Given the description of an element on the screen output the (x, y) to click on. 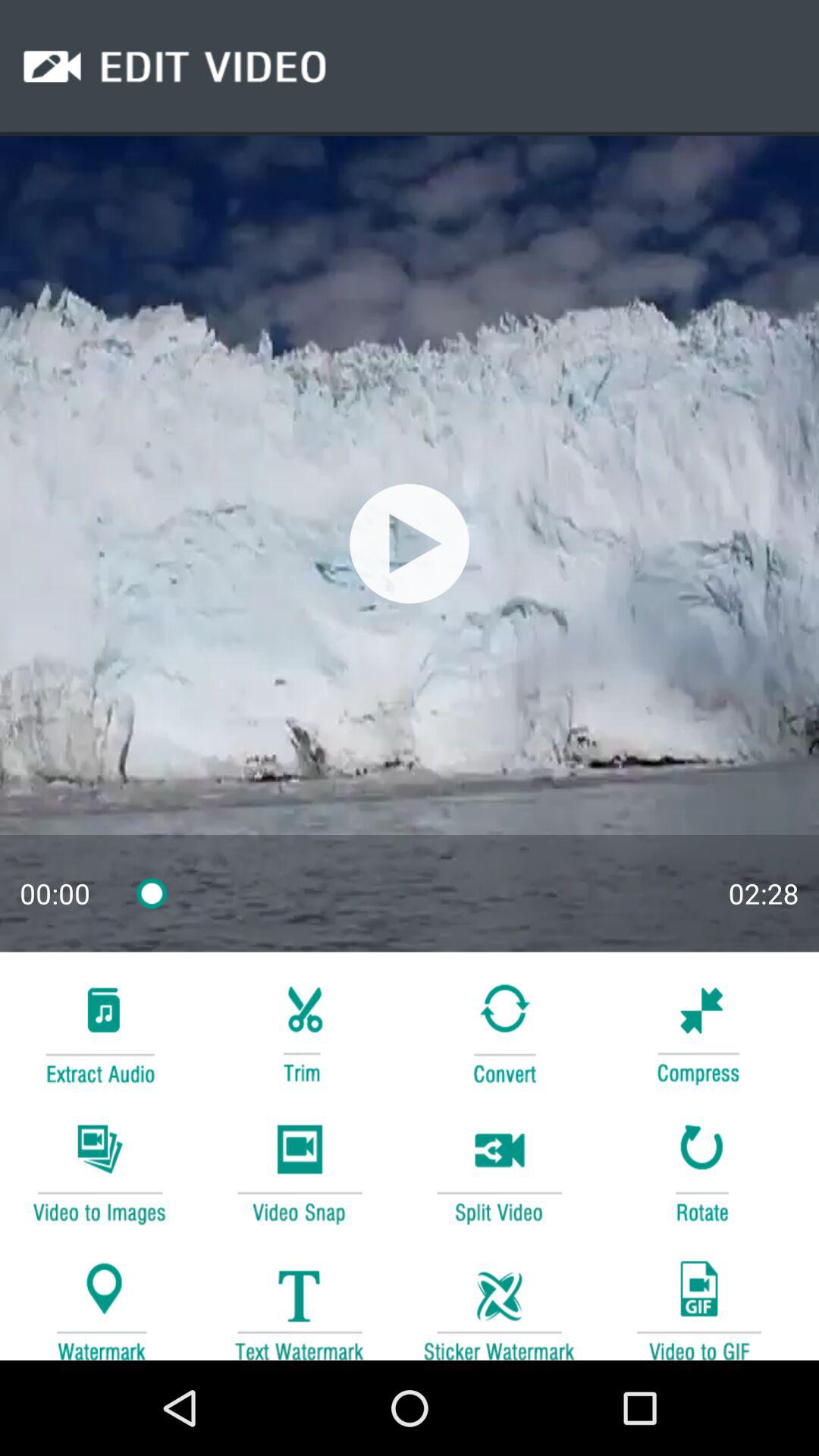
go to image (498, 1303)
